Given the description of an element on the screen output the (x, y) to click on. 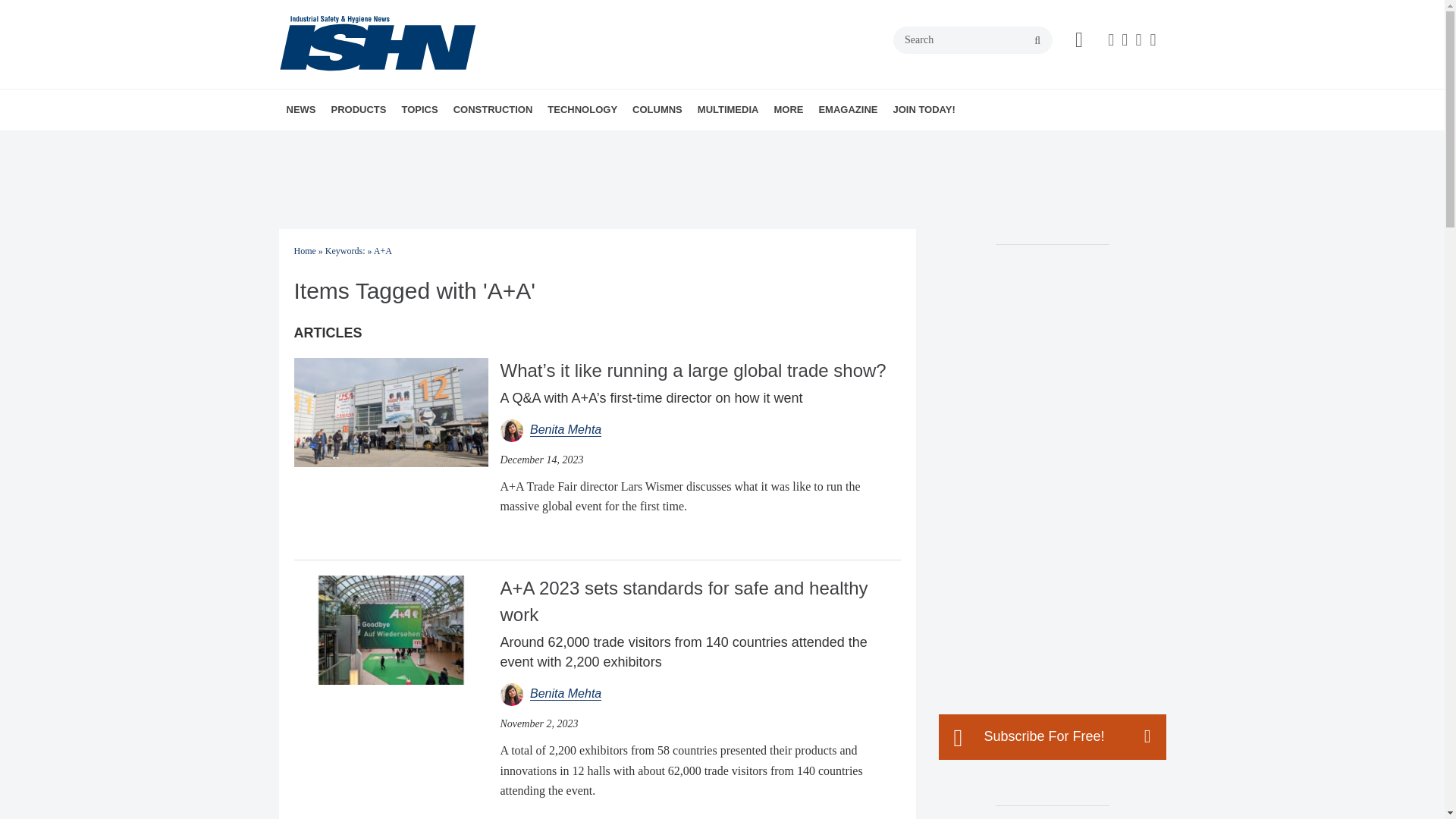
LEADING SAFETY (740, 142)
BEST PRACTICES (718, 142)
GLOBAL SAFETY NEWS (380, 142)
NEWS (301, 109)
TODAY'S NEWS (373, 142)
AplusA goodbye event roundup 2023.jpg (390, 629)
GOVERNMENT REGULATIONS (504, 142)
PRODUCTS (358, 109)
Search (972, 40)
MULTIMEDIA (728, 109)
WORKPLACE HEALTH (510, 142)
Search (972, 40)
FACILITY SAFETY (500, 142)
CONSTRUCTION (492, 109)
OCCUPATIONAL SAFETY (515, 142)
